Given the description of an element on the screen output the (x, y) to click on. 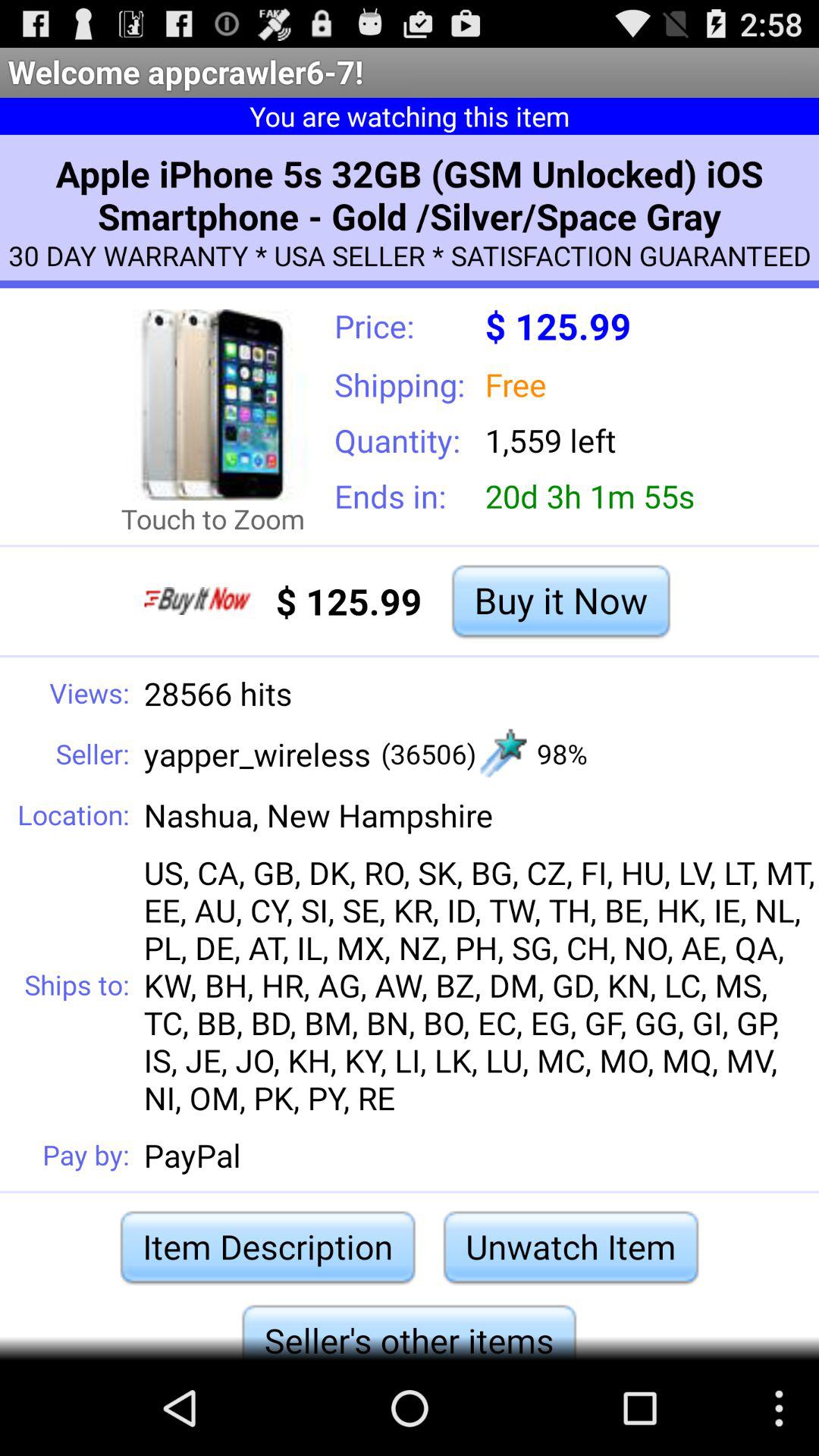
choose item to the left of price: app (212, 404)
